Given the description of an element on the screen output the (x, y) to click on. 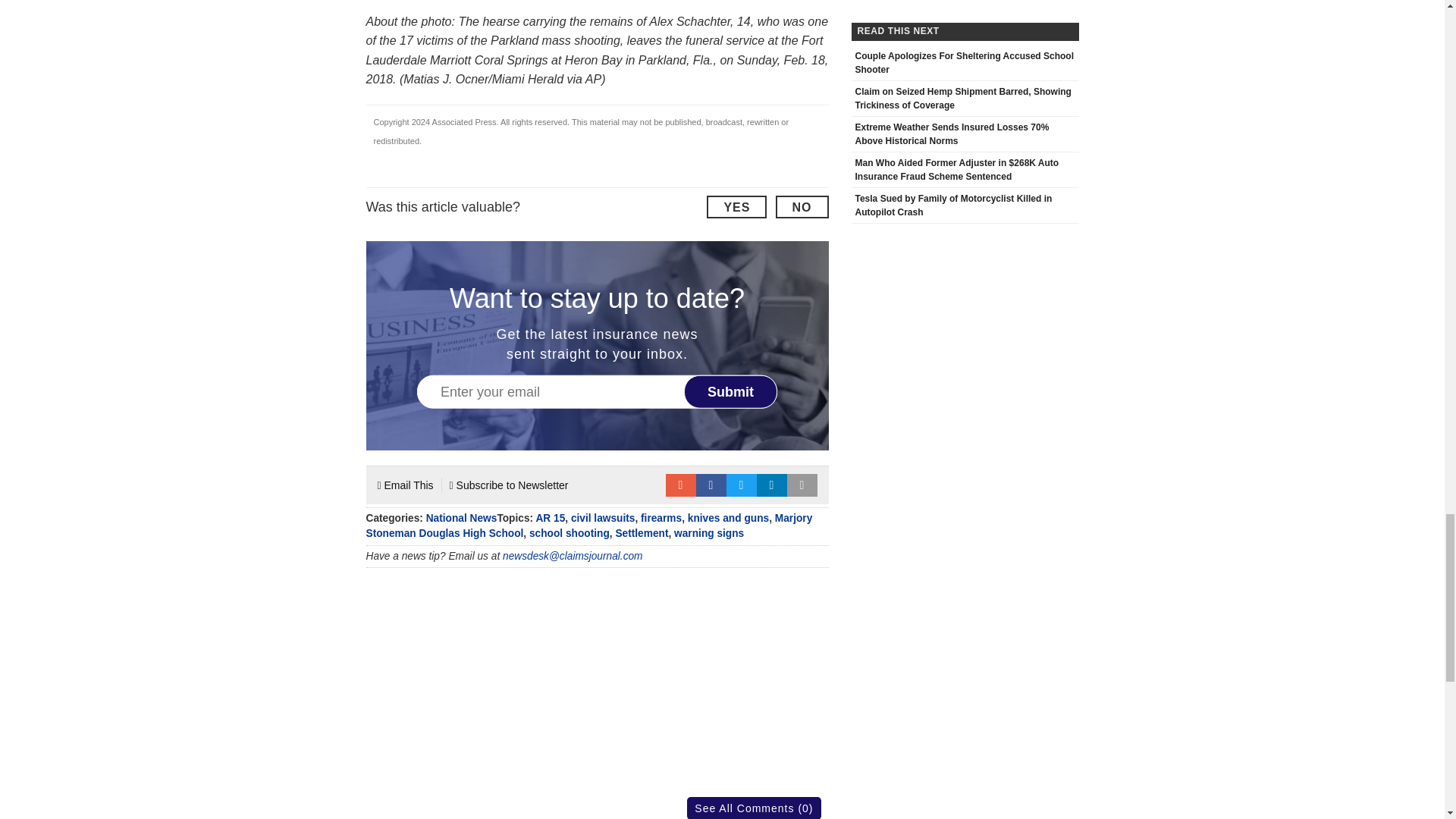
Post to Facebook. (710, 485)
YES (736, 206)
NO (801, 206)
Email to a friend (680, 485)
Submit (730, 391)
Share on LinkedIn. (772, 485)
Print Article (801, 485)
Share on Twitter. (741, 485)
Email This (405, 485)
Subscribe to Newsletter (509, 485)
